Given the description of an element on the screen output the (x, y) to click on. 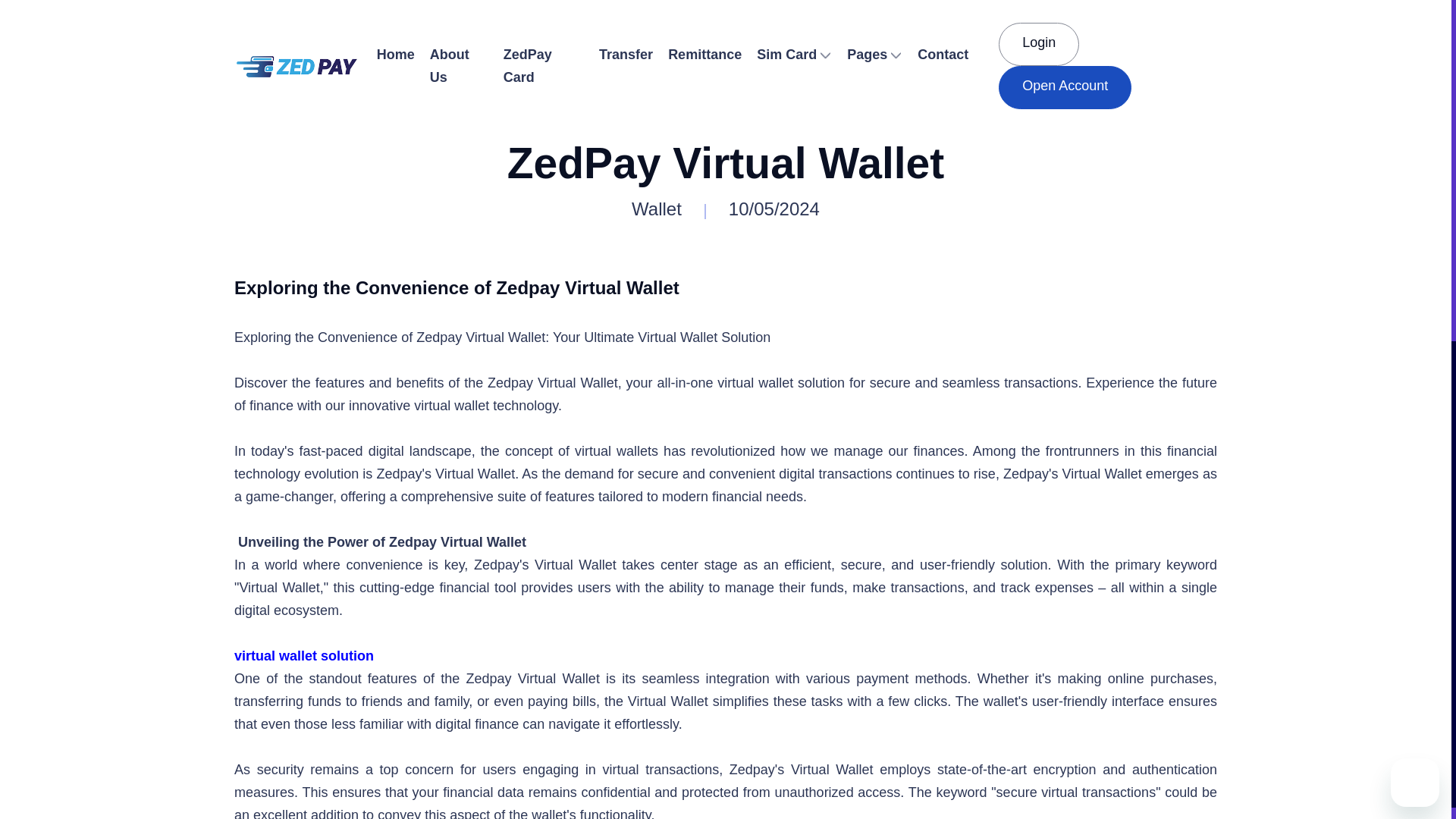
Contact (942, 54)
Remittance (705, 54)
Button to launch messaging window (1414, 782)
Pages (875, 54)
Open Account (1064, 87)
ZedPay Card (543, 65)
Login (1038, 44)
Transfer (626, 54)
About Us (459, 65)
virtual wallet solution (304, 655)
Home (395, 54)
Sim Card (794, 54)
